Given the description of an element on the screen output the (x, y) to click on. 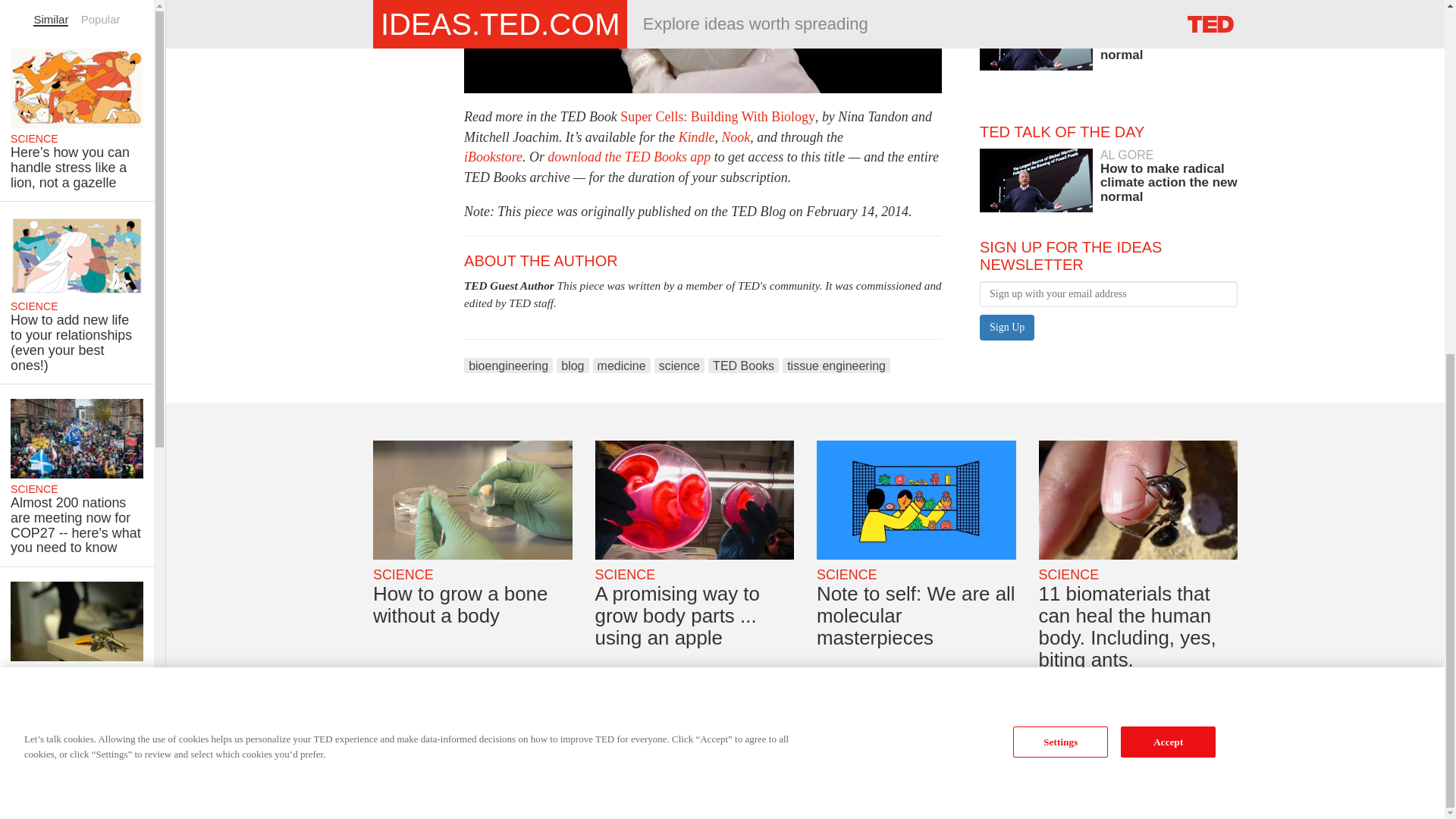
tissue engineering (836, 365)
TED Books (742, 365)
Sign Up (1108, 176)
blog (1006, 327)
Nook (572, 365)
download the TED Books app (734, 136)
Kindle (628, 156)
Sign Up (696, 136)
Super Cells: Building With Biology (1006, 327)
medicine (717, 116)
iBookstore (621, 365)
bioengineering (493, 156)
TED Guest Author (508, 365)
